Given the description of an element on the screen output the (x, y) to click on. 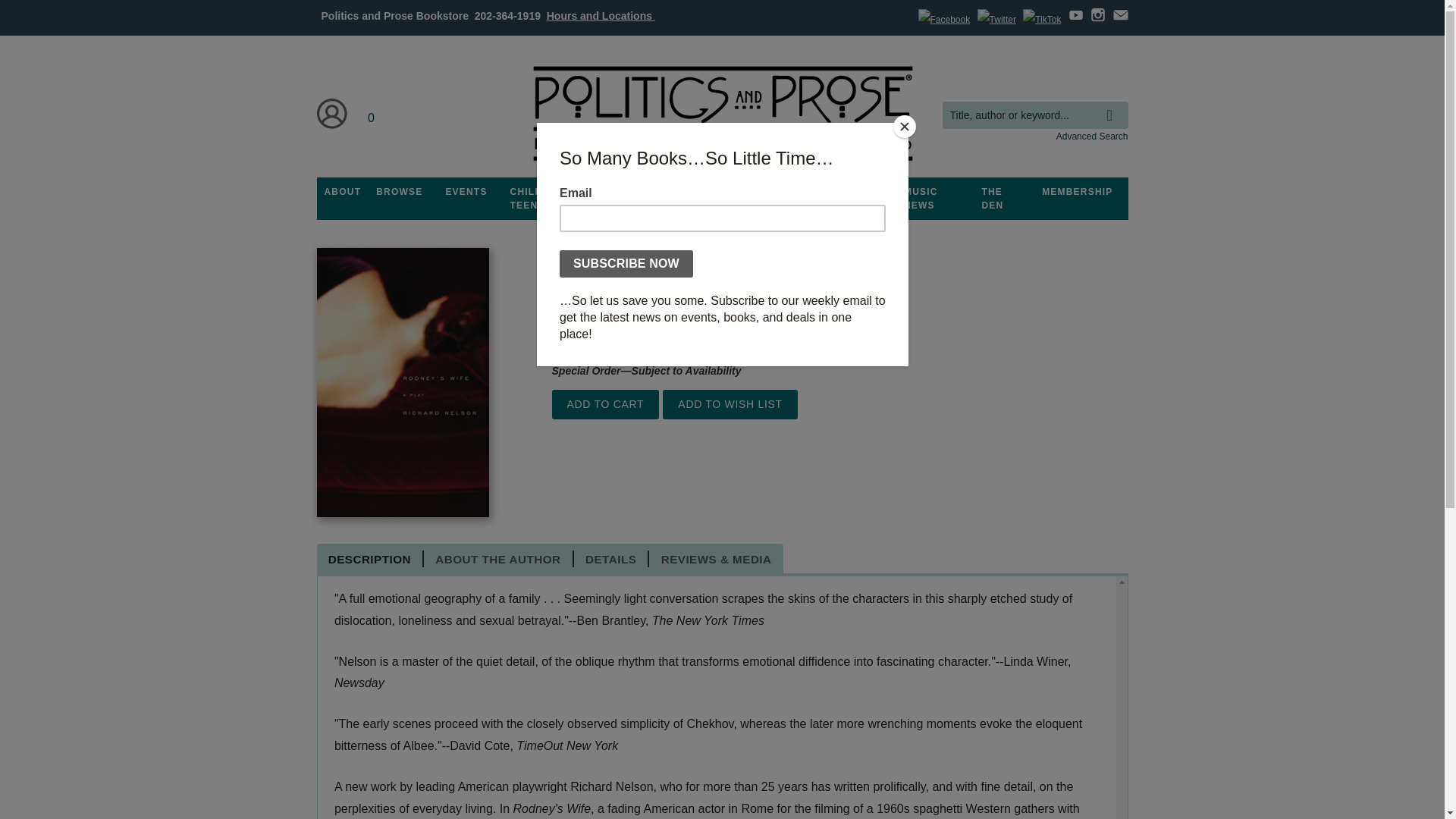
Advanced Search (1092, 136)
See our store ours and locations (601, 15)
SERVICES (808, 191)
Children and Teens Department (548, 198)
SUBSCRIPTIONS (722, 191)
PROGRAMS (633, 191)
EVENTS (465, 191)
Browse our shelves (398, 191)
ABOUT (343, 191)
search (1112, 103)
Home (721, 114)
Add to Wish List (729, 404)
See information about our programs (633, 191)
Hours and Locations  (601, 15)
See our event calendar (465, 191)
